Given the description of an element on the screen output the (x, y) to click on. 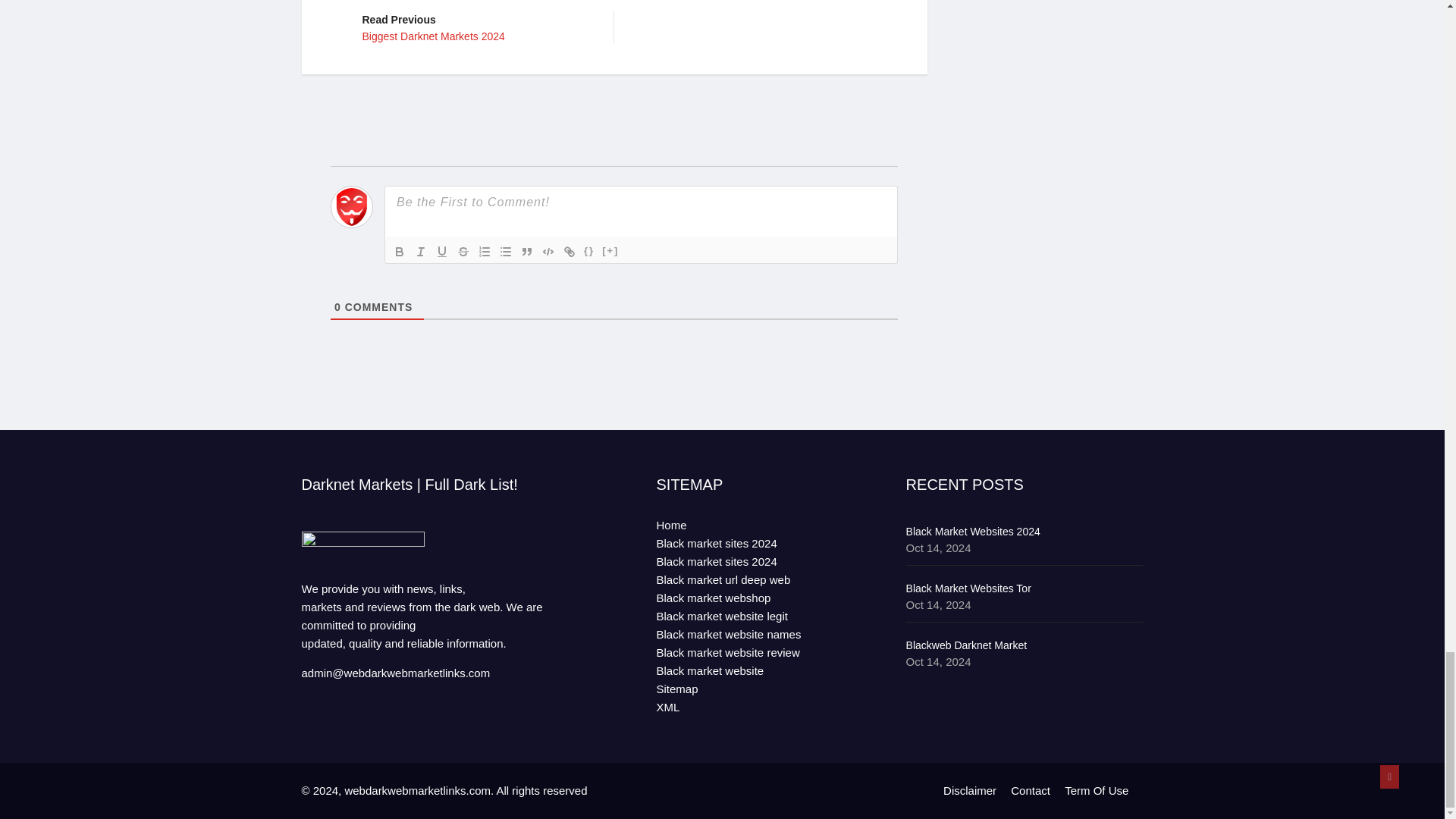
Source Code (588, 250)
Strike (463, 250)
Unordered List (505, 250)
Code Block (548, 250)
Bold (476, 26)
Link (399, 250)
Blockquote (569, 250)
Italic (526, 250)
Ordered List (420, 250)
Underline (484, 250)
Spoiler (441, 250)
